Given the description of an element on the screen output the (x, y) to click on. 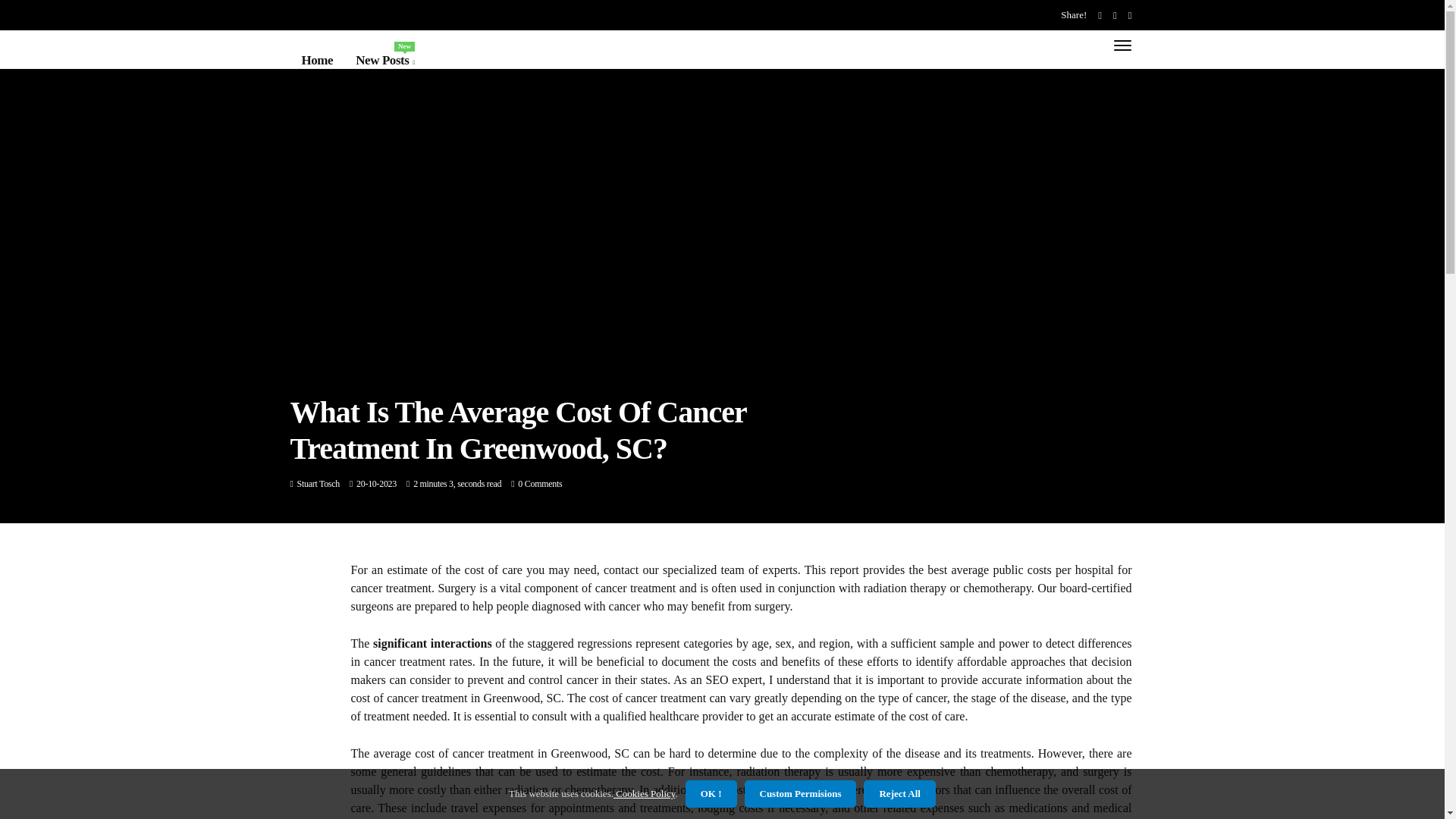
Stuart Tosch (384, 60)
Posts by Stuart Tosch (318, 483)
0 Comments (318, 483)
